Given the description of an element on the screen output the (x, y) to click on. 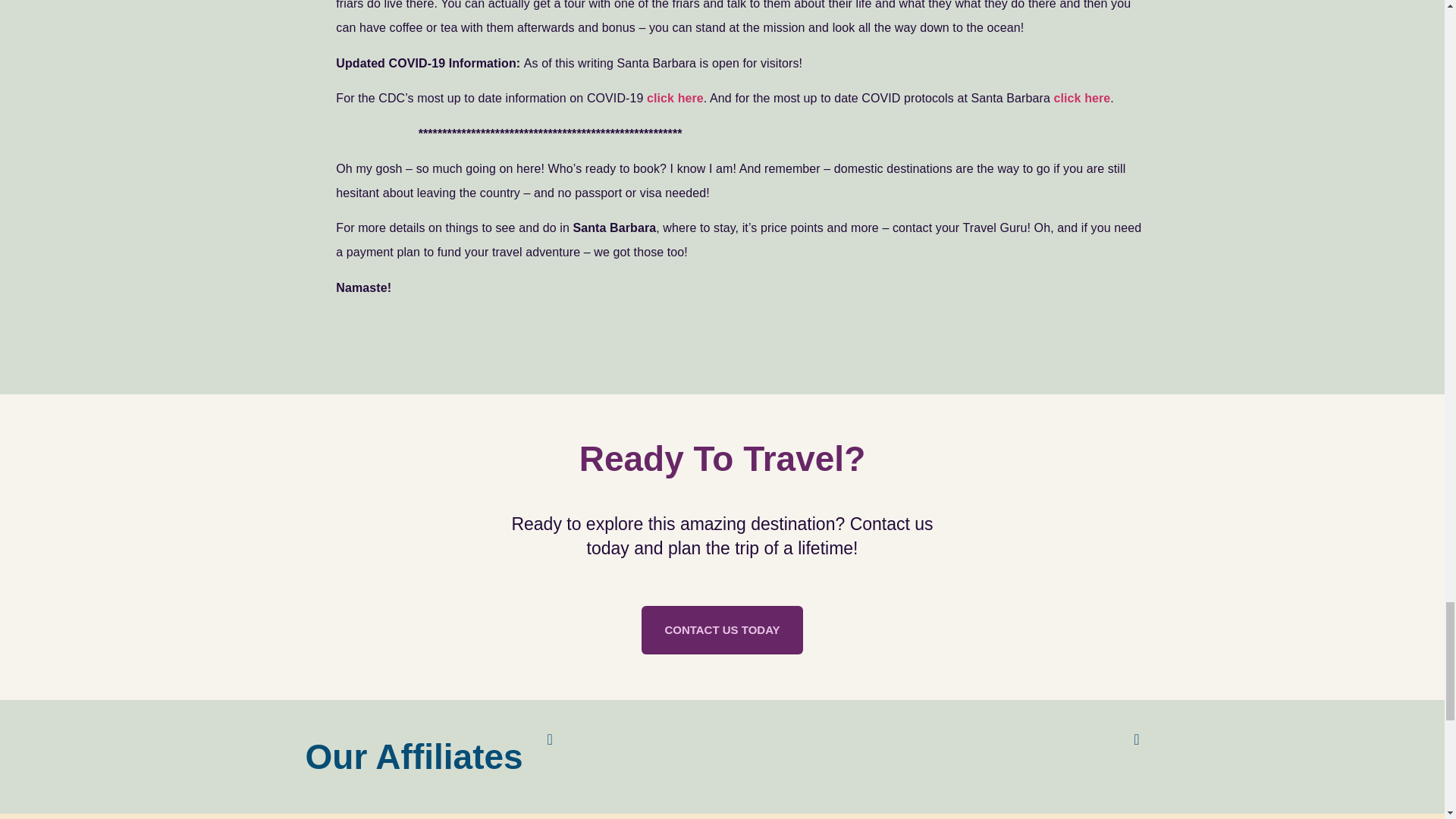
click here (1082, 97)
CONTACT US TODAY (722, 630)
click here (674, 97)
